Given the description of an element on the screen output the (x, y) to click on. 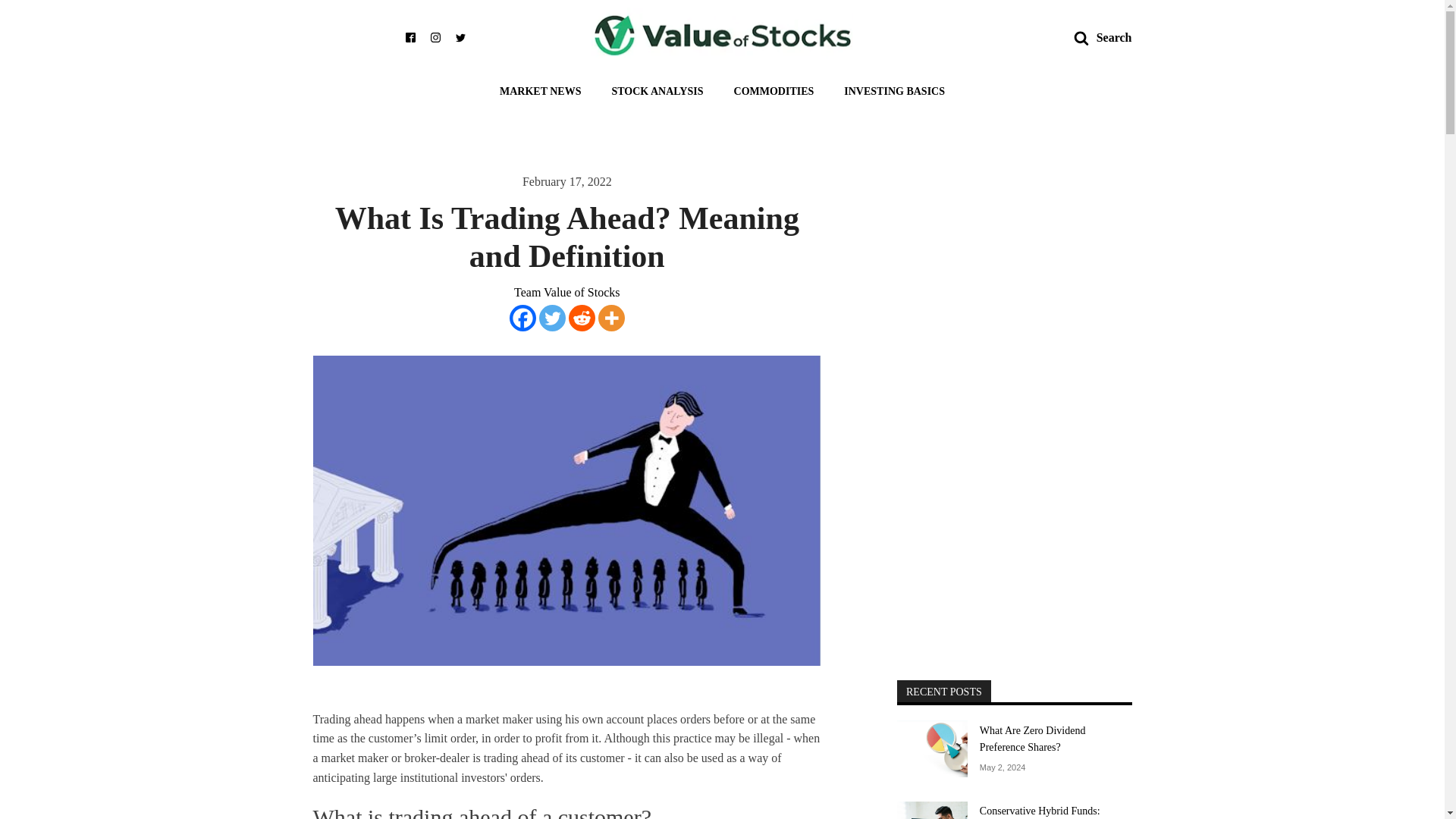
Twitter (552, 317)
Reddit (582, 317)
STOCK ANALYSIS (656, 85)
INVESTING BASICS (893, 85)
Facebook (522, 317)
More (611, 317)
MARKET NEWS (539, 85)
COMMODITIES (774, 85)
Team Value of Stocks (566, 292)
